Given the description of an element on the screen output the (x, y) to click on. 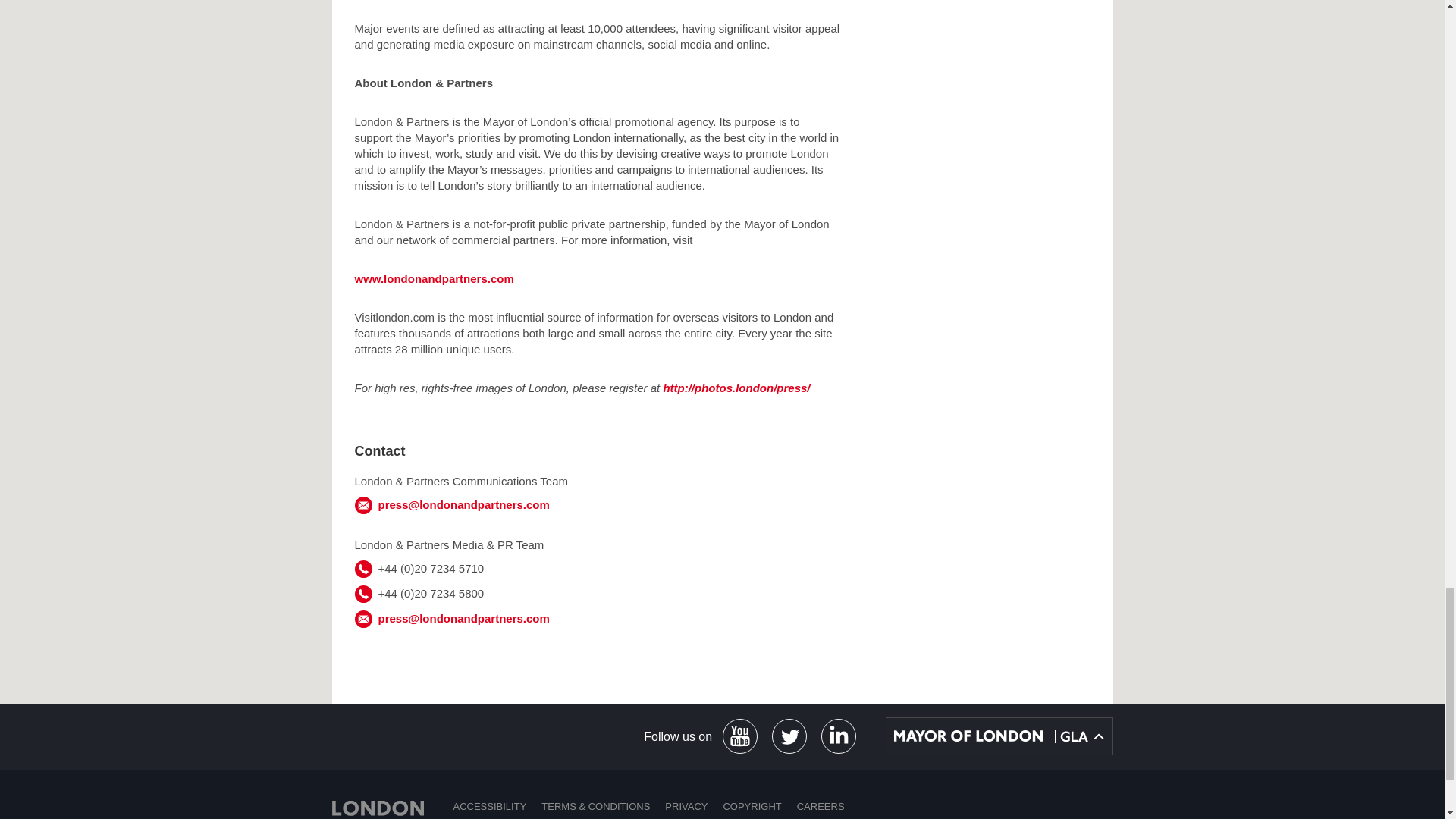
Link will open in a new window (789, 736)
Link will open in a new window (740, 736)
Link will open in a new window (735, 387)
Link will open in a new window (839, 736)
www.londonandpartners.com (434, 278)
